Given the description of an element on the screen output the (x, y) to click on. 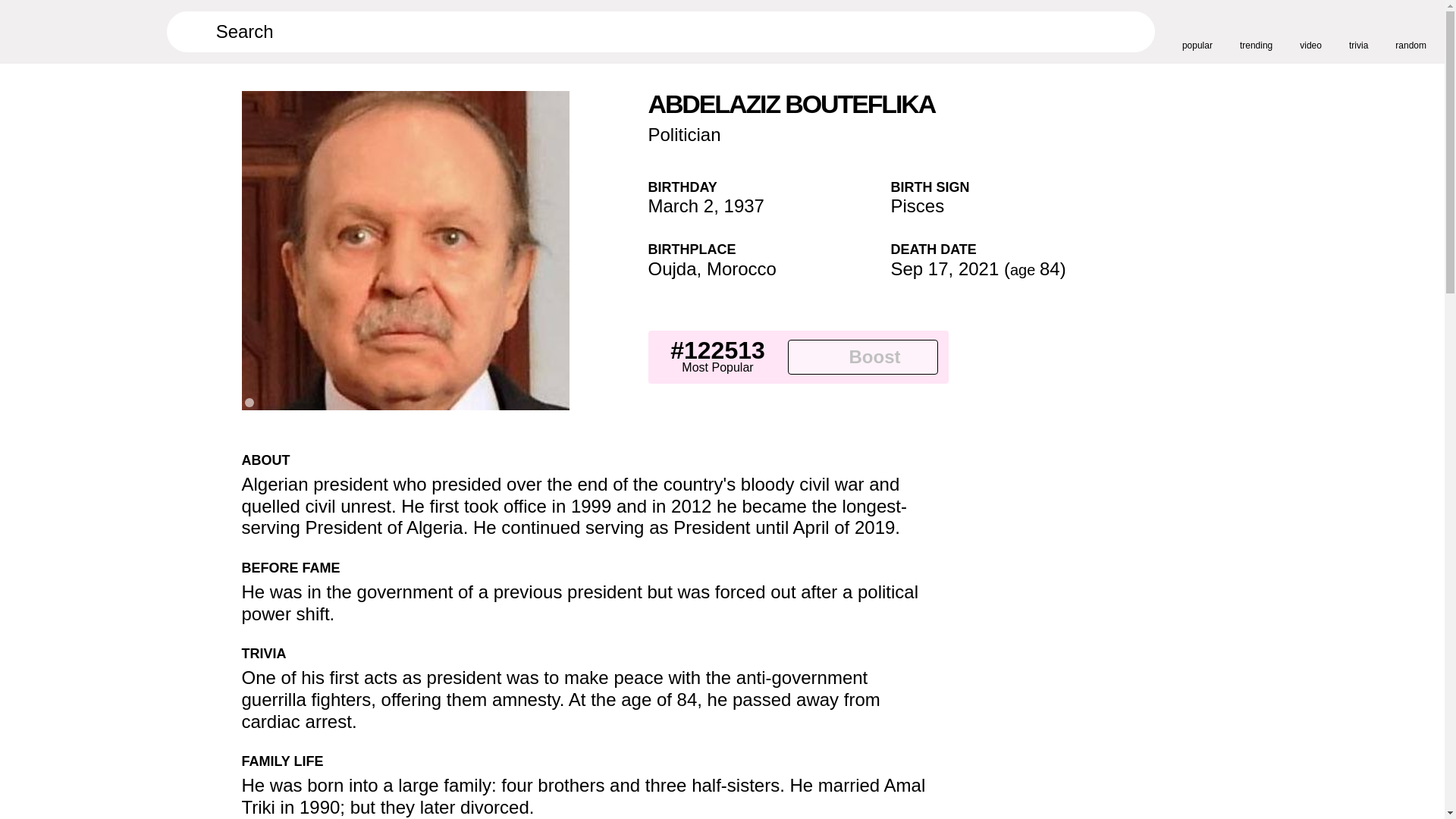
trivia (1358, 31)
Morocco (741, 268)
random (1410, 31)
trending (1256, 31)
random (1410, 31)
1937 (743, 205)
Pisces (916, 205)
video (1311, 31)
video (1311, 31)
2021 (978, 268)
popular (1197, 31)
Send Suggestion (932, 466)
March 2 (680, 205)
trending (1256, 31)
popular (1197, 31)
